Given the description of an element on the screen output the (x, y) to click on. 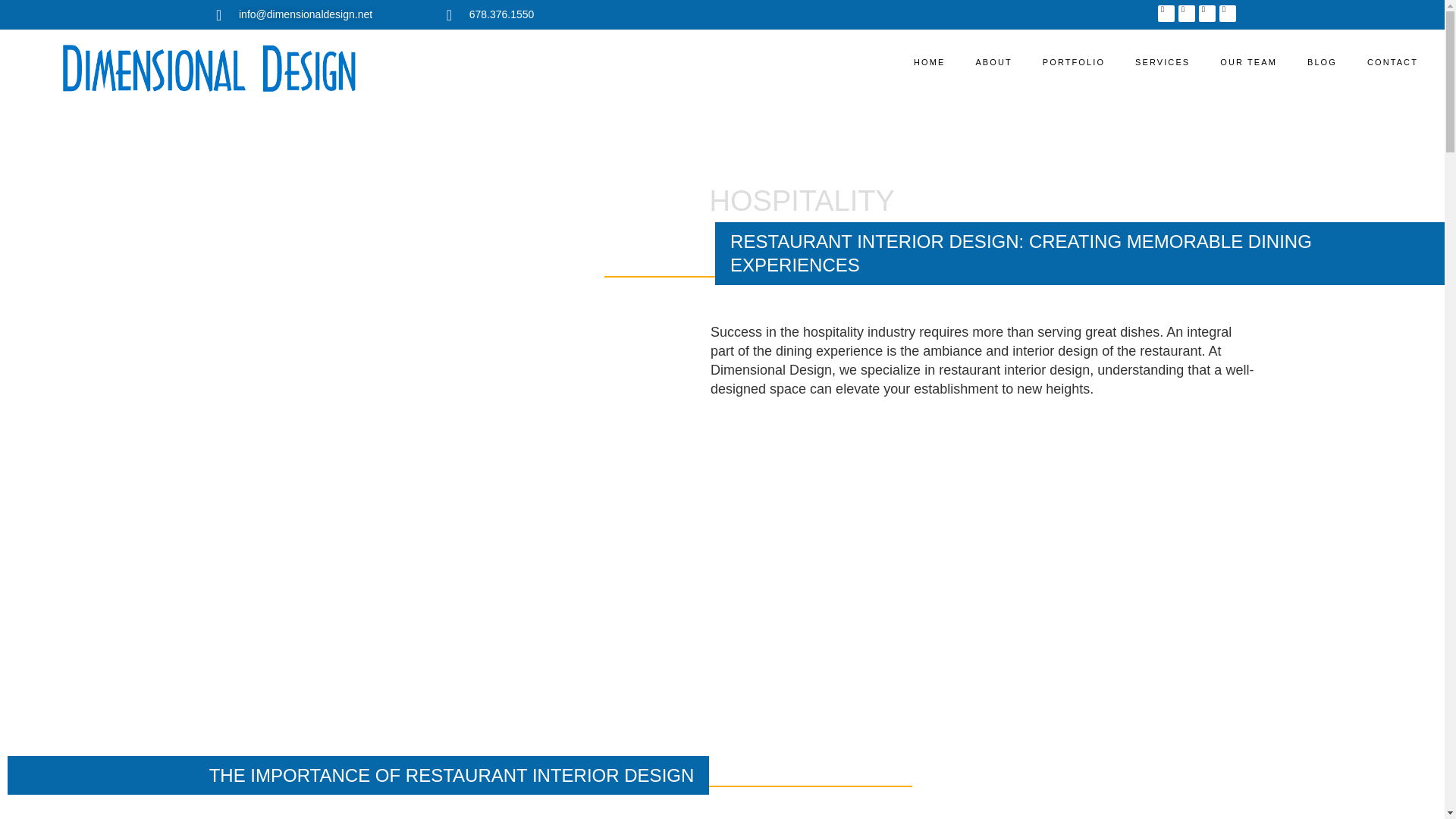
PORTFOLIO (1073, 62)
Twitter (1186, 13)
HOME (928, 62)
Facebook (1165, 13)
Instagram (1206, 13)
SERVICES (1162, 62)
CONTACT (1392, 62)
Linkedin (1228, 13)
ABOUT (992, 62)
678.376.1550 (736, 14)
